Given the description of an element on the screen output the (x, y) to click on. 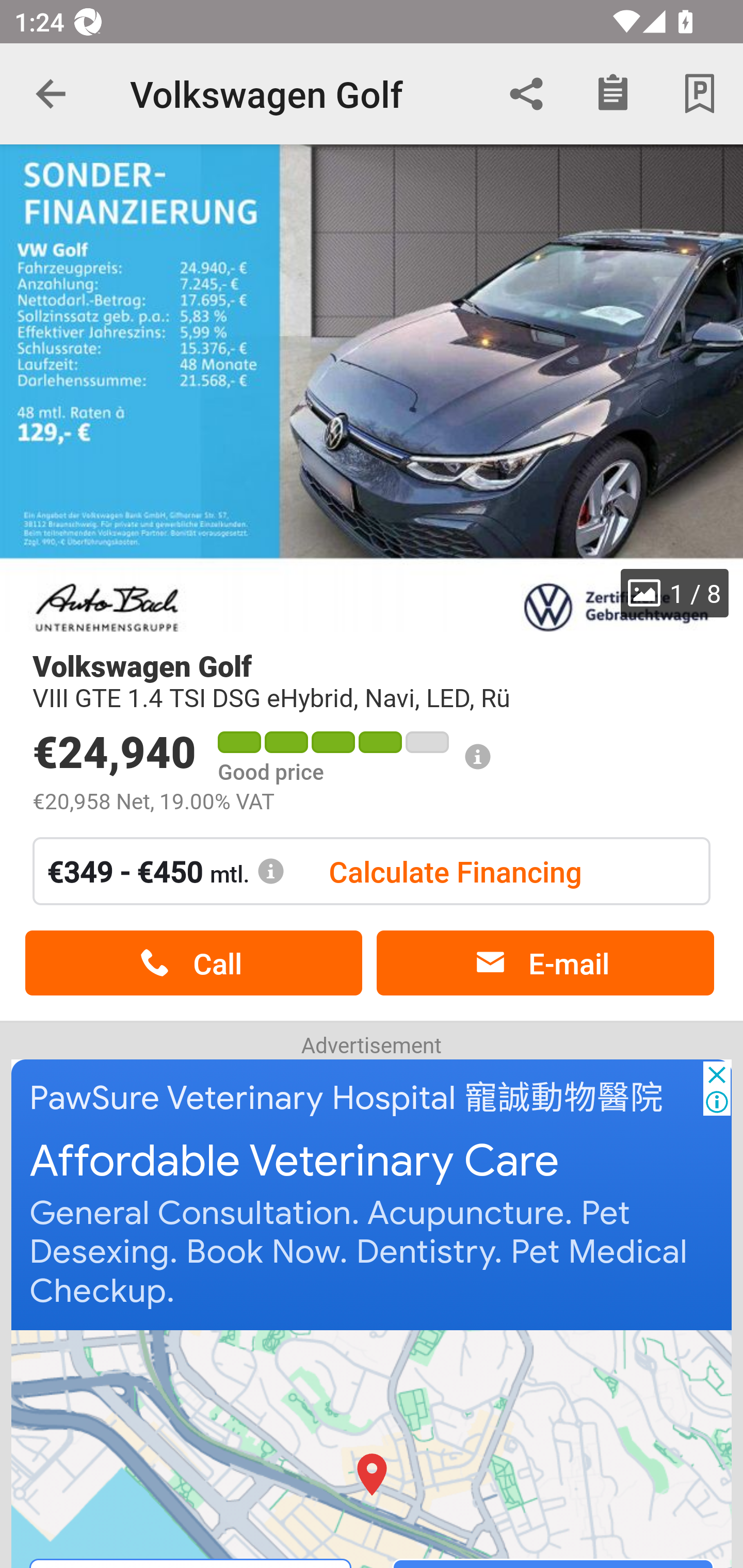
Navigate up (50, 93)
Share via (525, 93)
Checklist (612, 93)
Park (699, 93)
Calculate Financing (454, 870)
€349 - €450 mtl. (165, 870)
Call (193, 963)
E-mail (545, 963)
PawSure Veterinary Hospital 寵誠動物醫院 (346, 1097)
Affordable Veterinary Care (294, 1161)
Directions Call (372, 1448)
